Given the description of an element on the screen output the (x, y) to click on. 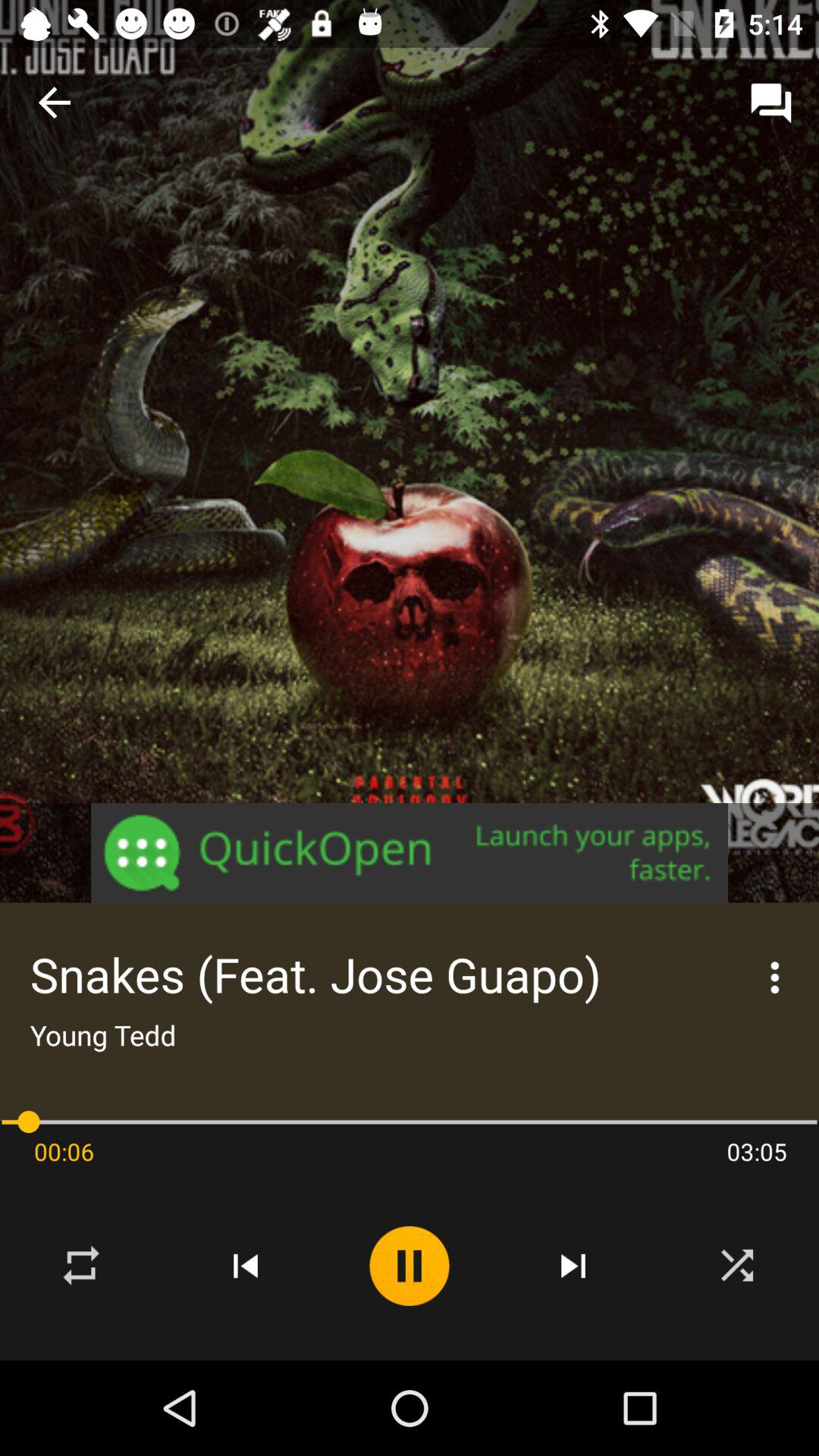
click the right arrow icon beside the pause icon (573, 1265)
select the fifth icon which is under the text 0305 (737, 1265)
select the text which is immediately below snakes feat jose guapo (103, 1035)
select the message icon from the top right corner of the page (771, 103)
